Given the description of an element on the screen output the (x, y) to click on. 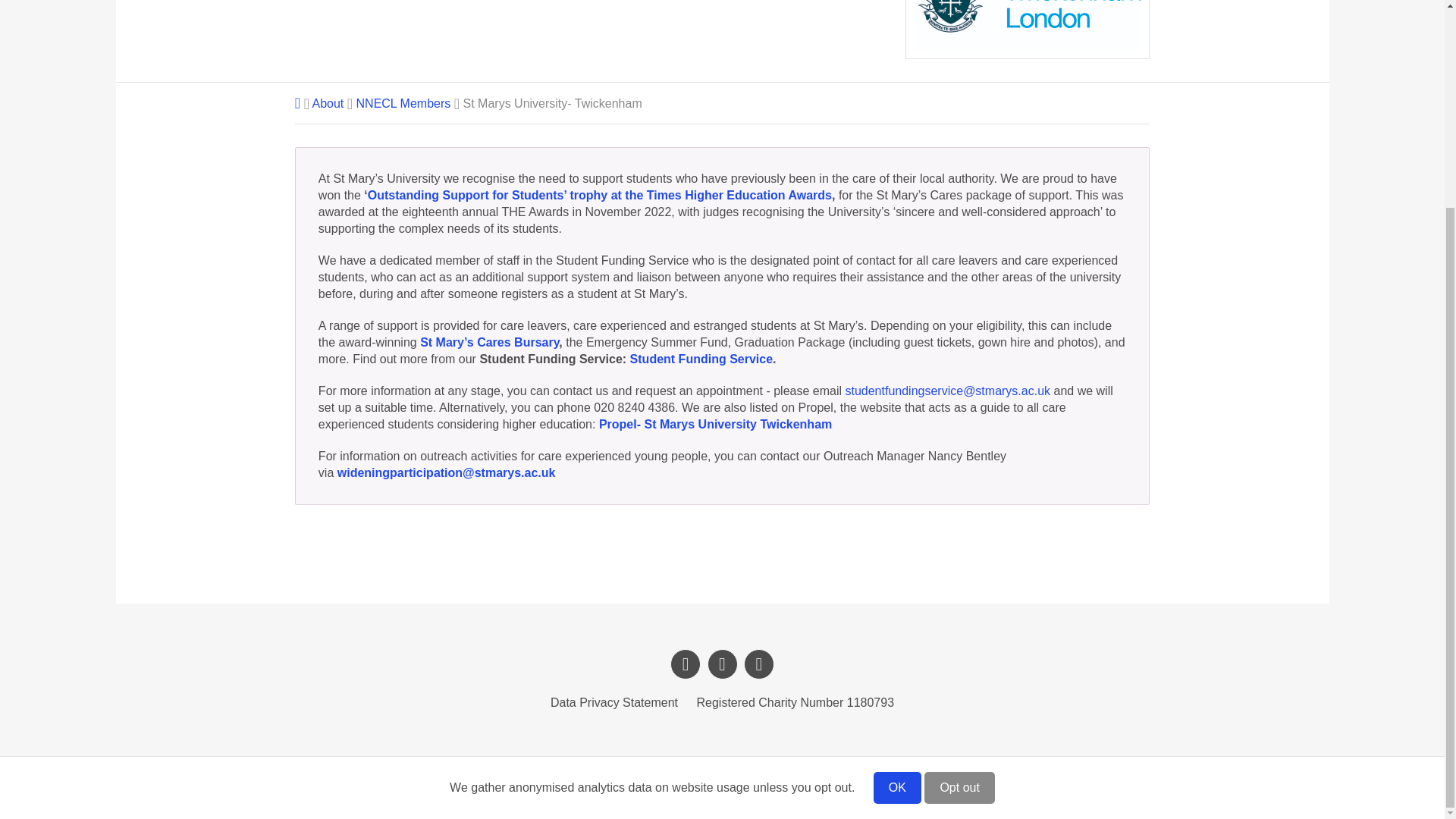
Propel- St Marys University Twickenham (714, 423)
White Fuse (770, 787)
Student Funding Service (701, 358)
About (328, 103)
Opt out (959, 520)
OK (897, 520)
NNECL Members (403, 103)
Registered Charity Number 1180793 (794, 702)
Data Privacy Statement (614, 702)
Log in (660, 787)
